Given the description of an element on the screen output the (x, y) to click on. 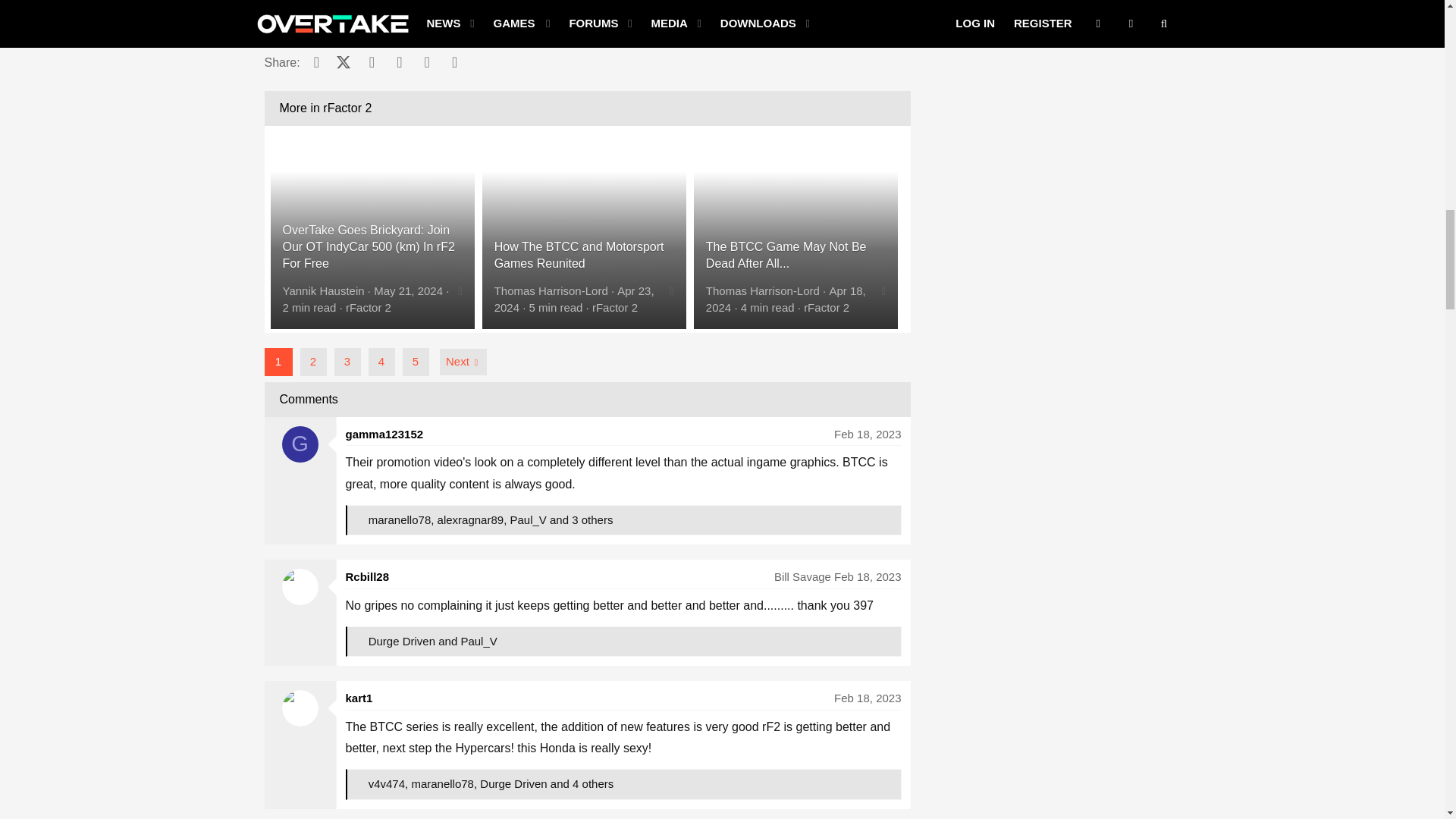
Apr 23, 2024 at 18:38 (574, 299)
Apr 18, 2024 at 16:45 (786, 299)
May 21, 2024 at 18:35 (408, 290)
Feb 18, 2023 at 08:13 (867, 433)
